Given the description of an element on the screen output the (x, y) to click on. 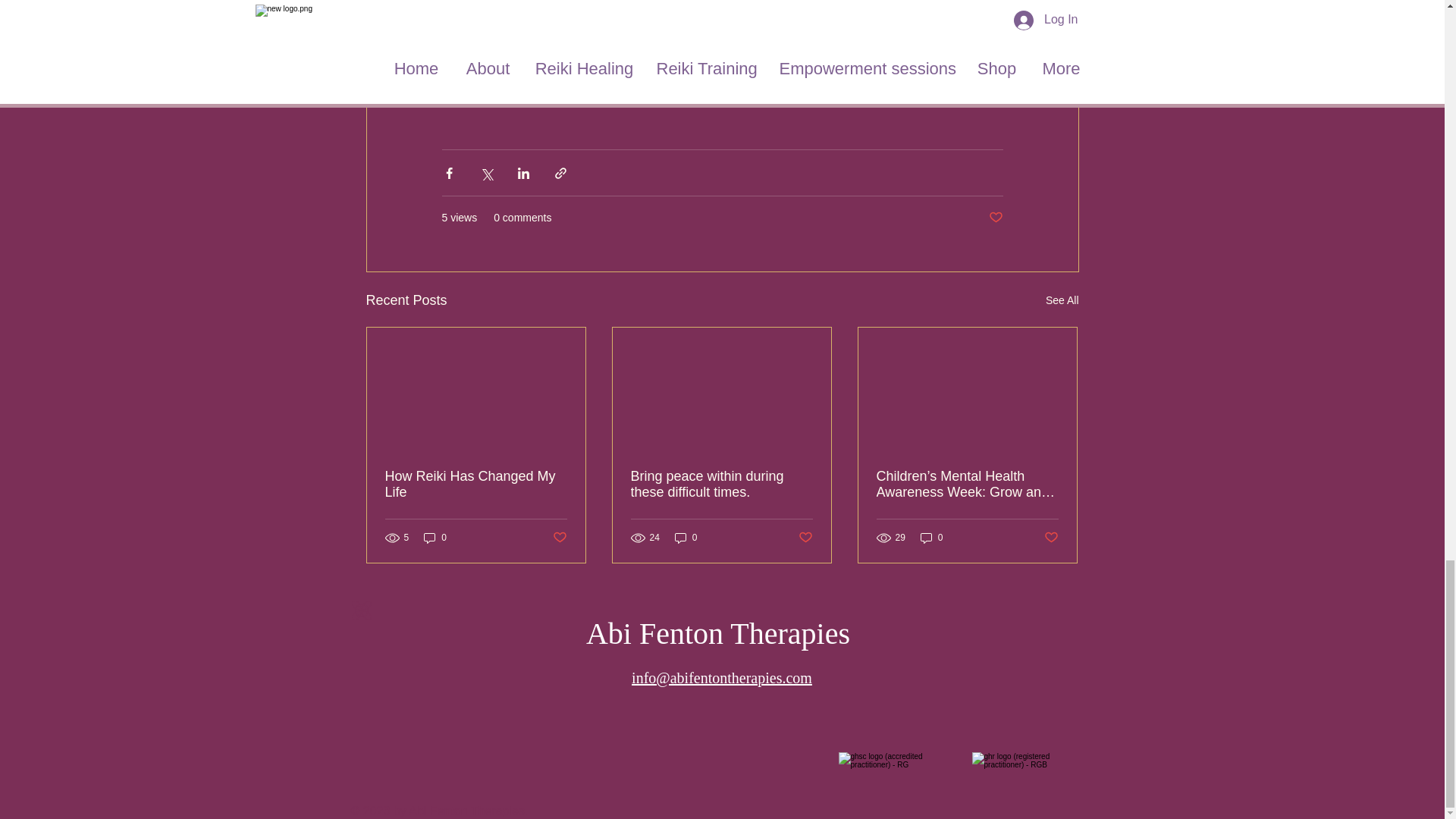
Post not marked as liked (558, 537)
0 (931, 537)
Post not marked as liked (804, 537)
please get in touch (908, 79)
Bring peace within during these difficult times. (721, 484)
Post not marked as liked (995, 217)
How Reiki Has Changed My Life (476, 484)
Post not marked as liked (1050, 537)
0 (685, 537)
0 (435, 537)
